Given the description of an element on the screen output the (x, y) to click on. 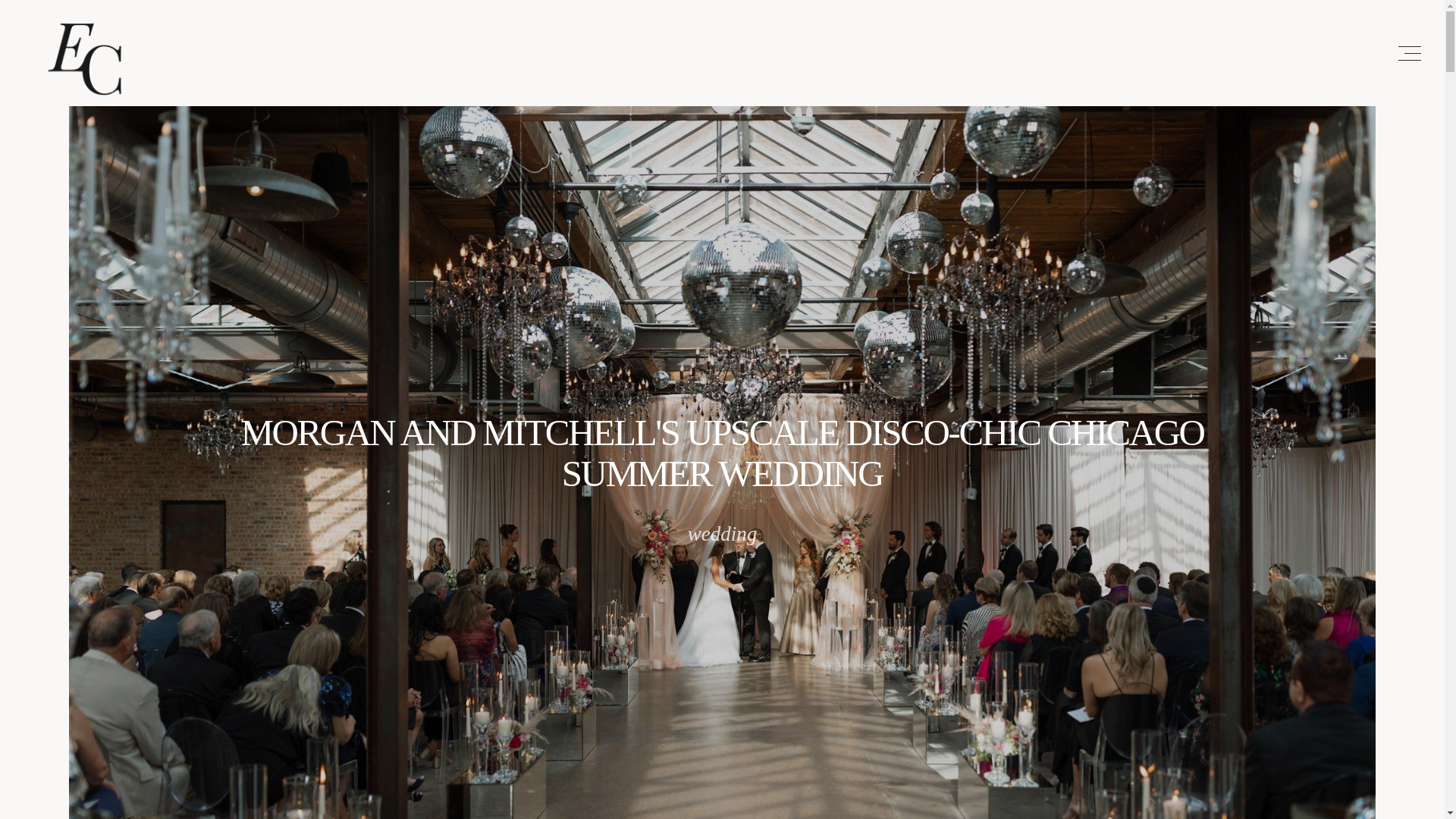
wedding (722, 533)
